Given the description of an element on the screen output the (x, y) to click on. 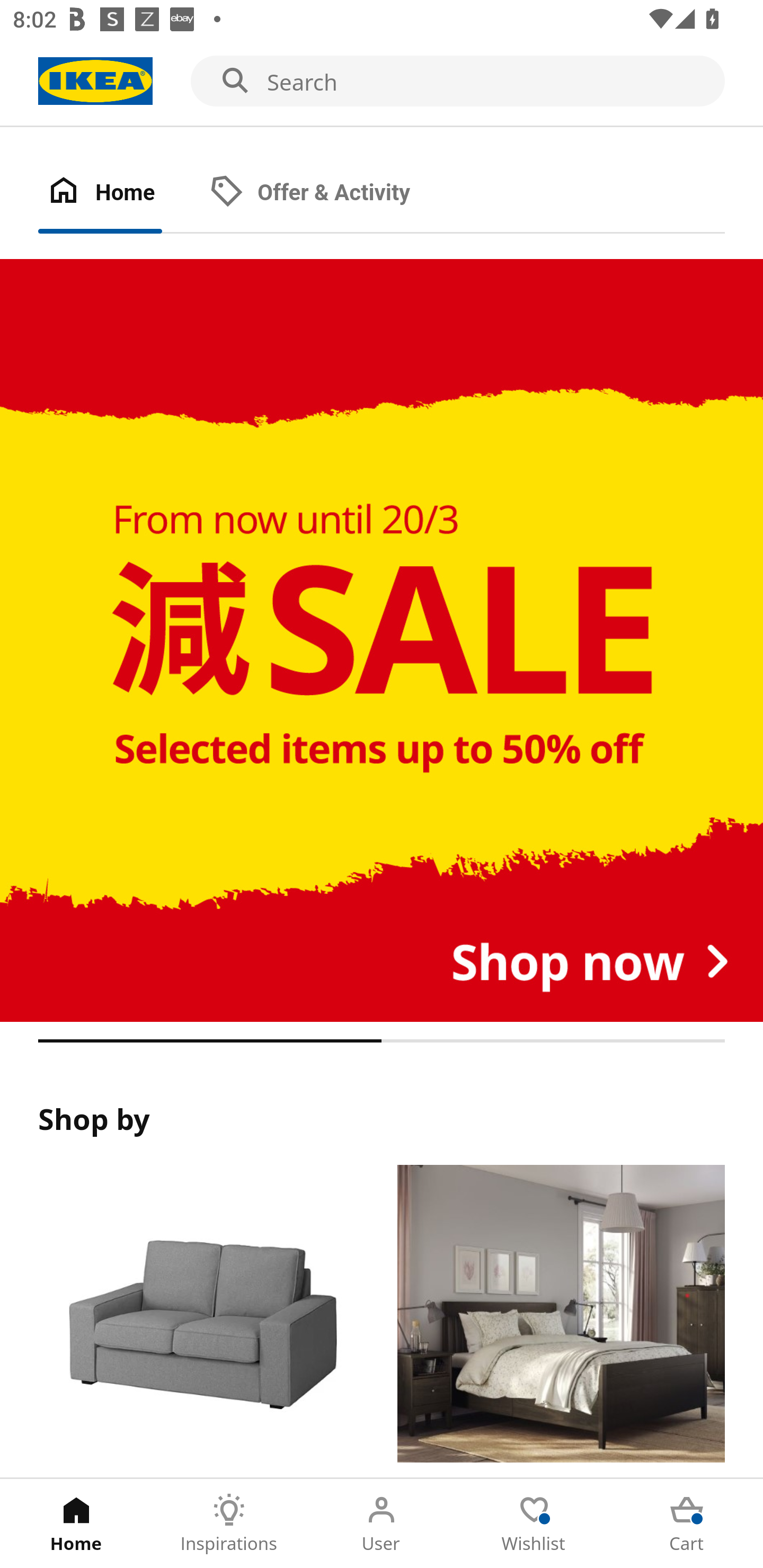
Search (381, 81)
Home
Tab 1 of 2 (118, 192)
Offer & Activity
Tab 2 of 2 (327, 192)
Products (201, 1321)
Rooms (560, 1321)
Home
Tab 1 of 5 (76, 1522)
Inspirations
Tab 2 of 5 (228, 1522)
User
Tab 3 of 5 (381, 1522)
Wishlist
Tab 4 of 5 (533, 1522)
Cart
Tab 5 of 5 (686, 1522)
